Given the description of an element on the screen output the (x, y) to click on. 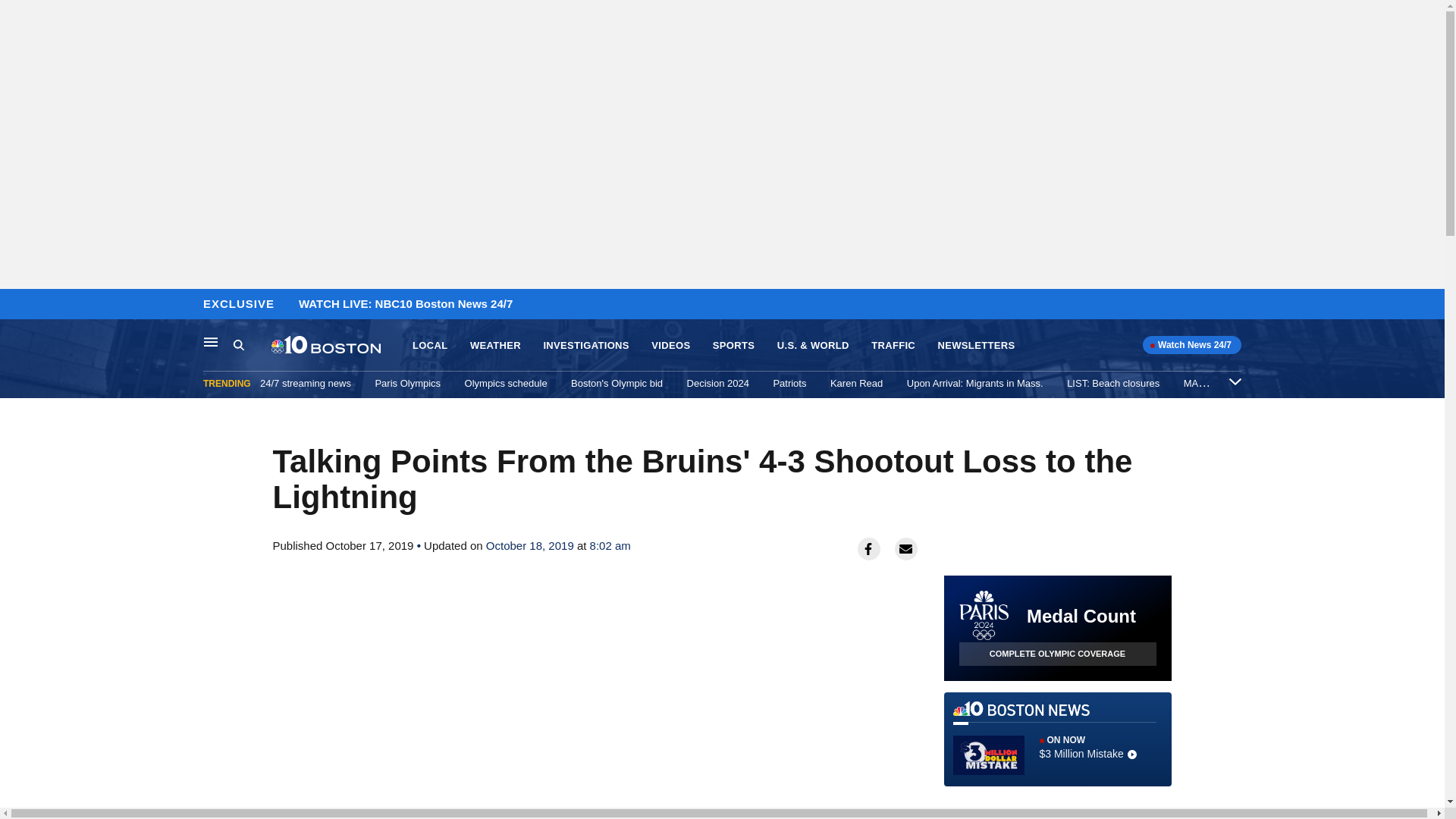
LIST: Beach closures (1112, 383)
Boston's Olympic bid (616, 383)
Patriots (789, 383)
Paris Olympics (407, 383)
Expand (1234, 381)
Search (252, 345)
Karen Read (855, 383)
Skip to content (16, 304)
TRAFFIC (892, 345)
WEATHER (495, 345)
VIDEOS (670, 345)
Olympics schedule (505, 383)
Upon Arrival: Migrants in Mass. (975, 383)
LOCAL (429, 345)
Decision 2024 (718, 383)
